Given the description of an element on the screen output the (x, y) to click on. 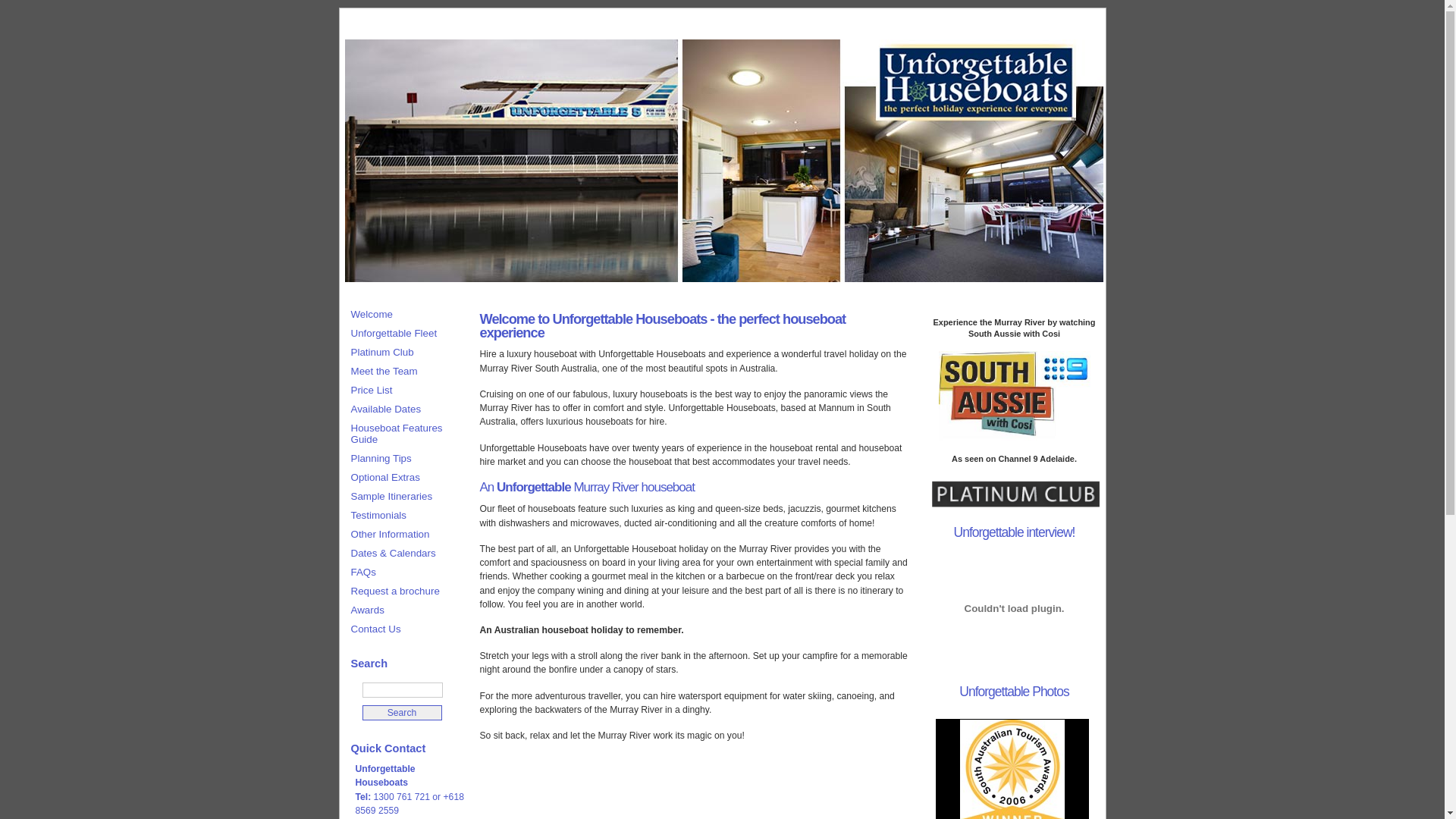
Meet the Team Element type: text (404, 370)
Platinum Club Element type: text (404, 351)
Unforgettable Fleet Element type: text (404, 332)
Price List Element type: text (404, 389)
Unforgettable Platinum Club Element type: hover (1015, 493)
Sample Itineraries Element type: text (404, 495)
Dates & Calendars Element type: text (404, 552)
Planning Tips Element type: text (404, 457)
Optional Extras Element type: text (404, 476)
Contact Us Element type: text (404, 628)
Available Dates Element type: text (404, 408)
Welcome Element type: text (404, 313)
Request a brochure Element type: text (404, 590)
Other Information Element type: text (404, 533)
Awards Element type: text (404, 609)
South Aussie with Cosi Element type: hover (1014, 437)
Testimonials Element type: text (404, 514)
FAQs Element type: text (404, 571)
Houseboat Features Guide Element type: text (404, 433)
Search Element type: text (402, 712)
South Aussie with Cosi Element type: hover (1014, 395)
